Given the description of an element on the screen output the (x, y) to click on. 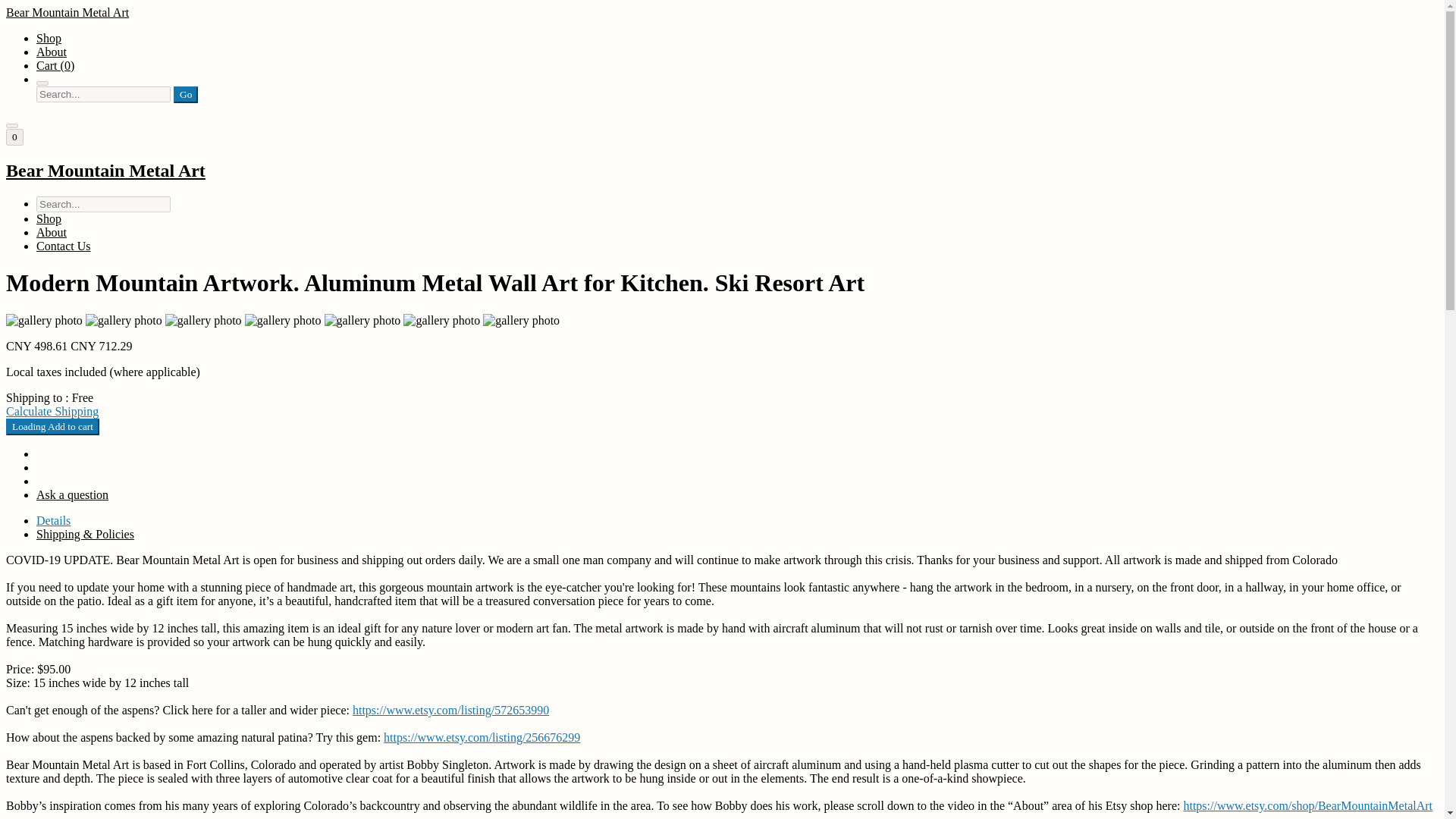
0 (14, 136)
Go (185, 94)
Details (52, 520)
Shop (48, 38)
Ask a question (71, 494)
Go (185, 94)
About (51, 51)
Shop (48, 218)
Contact Us (63, 245)
Loading Add to cart (52, 426)
Calculate Shipping (52, 410)
About (51, 232)
